Given the description of an element on the screen output the (x, y) to click on. 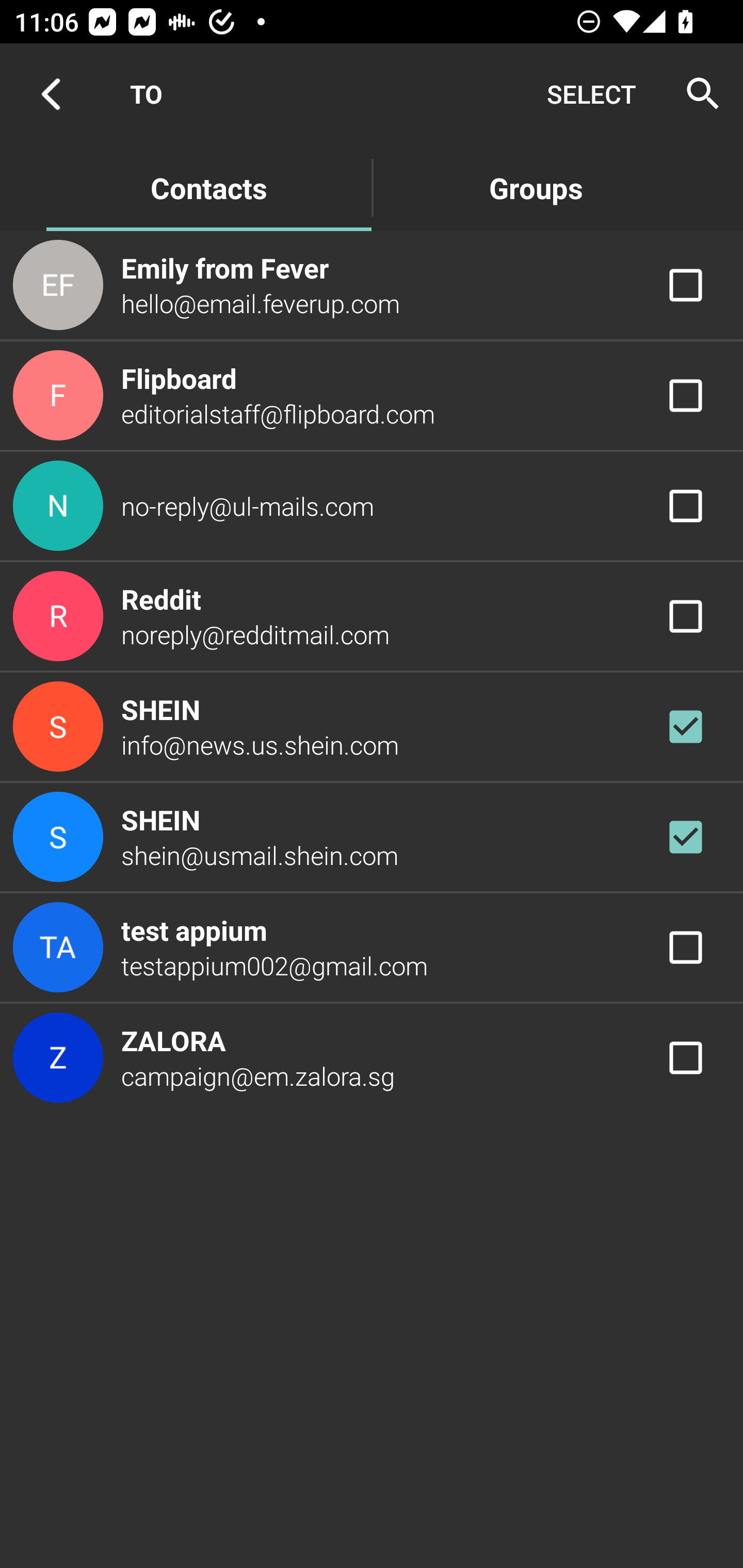
Navigate up (50, 93)
SELECT (590, 93)
Search (696, 93)
Contacts (208, 187)
Groups (535, 187)
Emily from Fever hello@email.feverup.com (371, 284)
Flipboard editorialstaff@flipboard.com (371, 395)
no-reply@ul-mails.com (371, 505)
Reddit noreply@redditmail.com (371, 616)
SHEIN info@news.us.shein.com (371, 726)
SHEIN shein@usmail.shein.com (371, 836)
test appium testappium002@gmail.com (371, 947)
ZALORA campaign@em.zalora.sg (371, 1057)
